Given the description of an element on the screen output the (x, y) to click on. 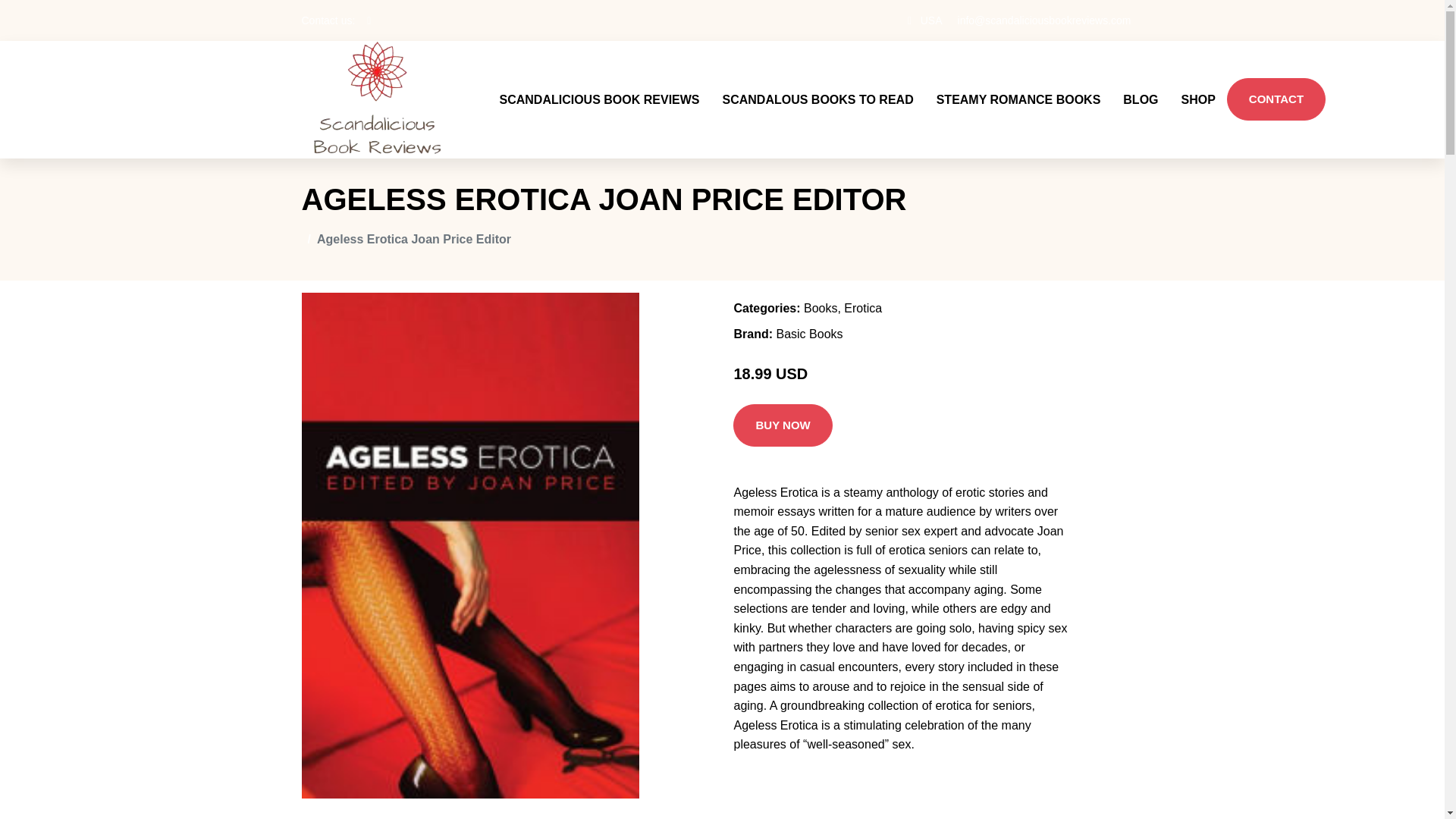
SCANDALICIOUS BOOK REVIEWS (599, 99)
Erotica (863, 308)
SCANDALOUS BOOKS TO READ (817, 99)
USA (931, 20)
CONTACT (1275, 98)
BUY NOW (782, 425)
Books (820, 308)
STEAMY ROMANCE BOOKS (1018, 99)
